Given the description of an element on the screen output the (x, y) to click on. 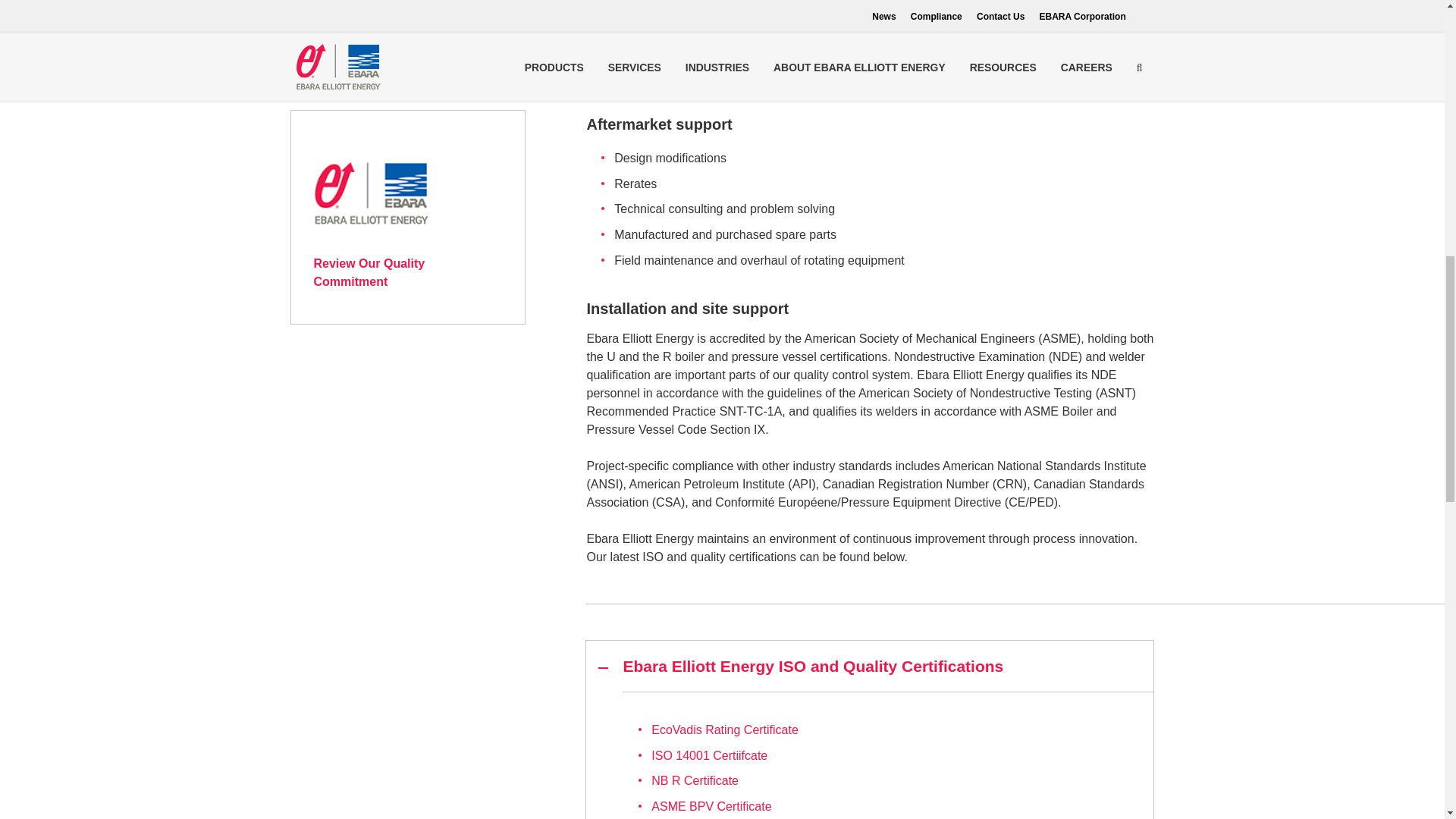
EcoVadis Rating Certificate (723, 729)
Review Our Quality Commitment (371, 238)
NB R Certificate (694, 780)
ASME BPV Certificate (710, 806)
In the Community (408, 51)
Ebara Elliott Energy ISO and Quality Certifications (869, 665)
ISO 14001 Certiifcate (708, 755)
History (408, 15)
